Given the description of an element on the screen output the (x, y) to click on. 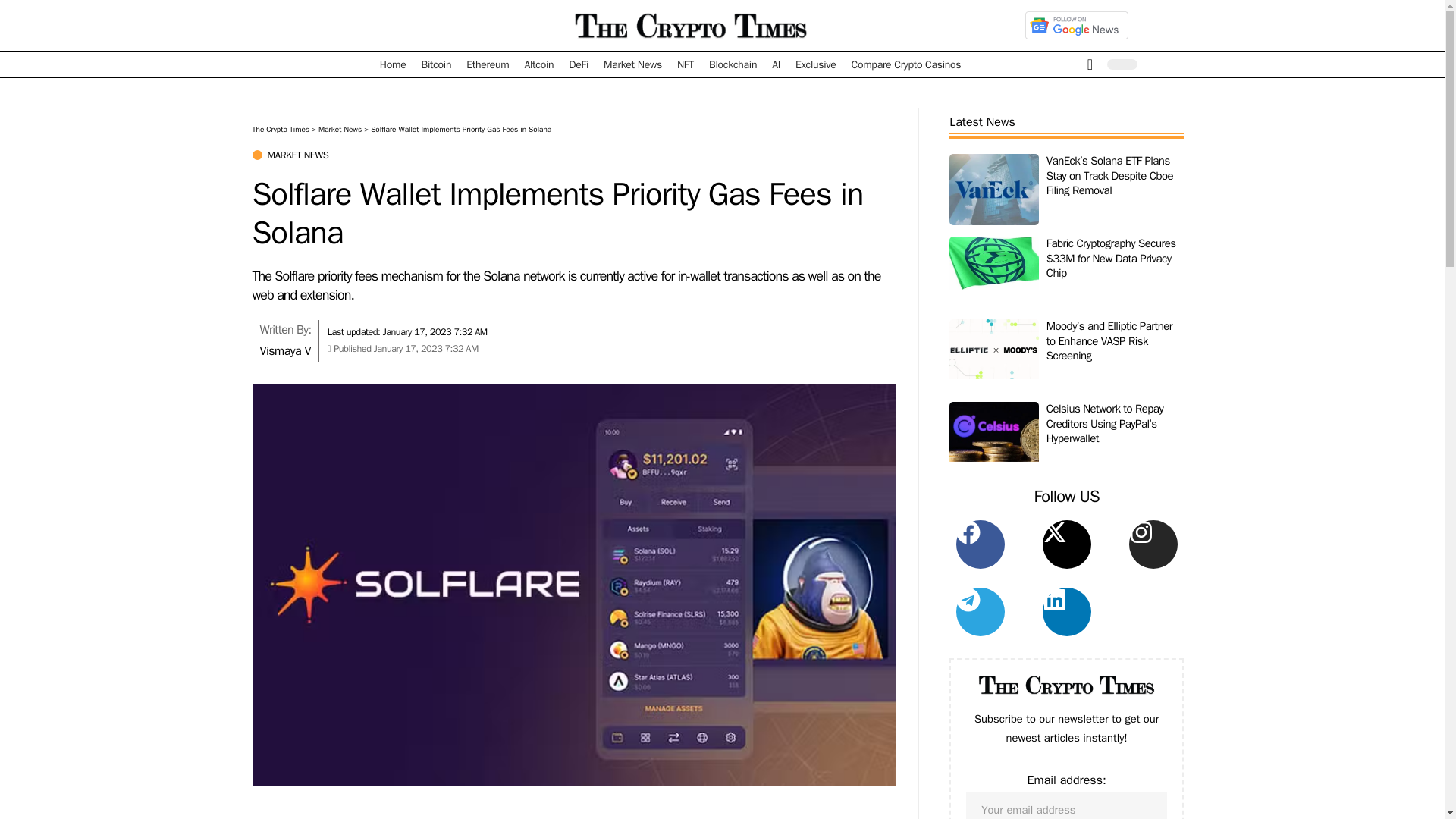
NFT (685, 64)
Blockchain (732, 64)
Altcoin (538, 64)
Go to The Crypto Times. (279, 129)
Ethereum (487, 64)
Market News (632, 64)
DeFi (577, 64)
Go to the Market News Category archives. (339, 129)
Home (392, 64)
AI (775, 64)
